Given the description of an element on the screen output the (x, y) to click on. 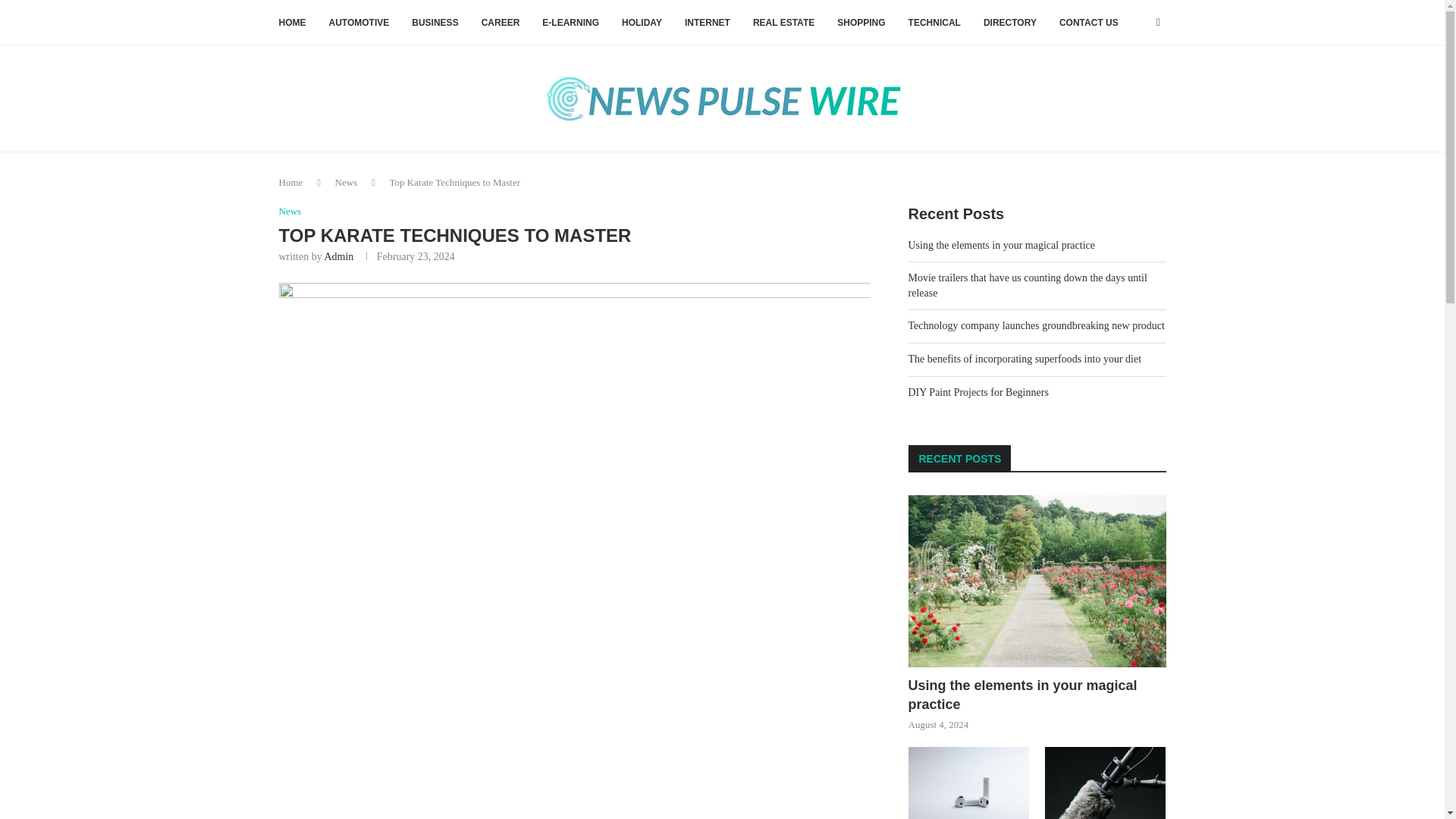
INTERNET (707, 22)
BUSINESS (435, 22)
TECHNICAL (934, 22)
SHOPPING (861, 22)
CONTACT US (1088, 22)
Home (290, 182)
HOLIDAY (641, 22)
E-LEARNING (569, 22)
News (290, 211)
Admin (338, 256)
REAL ESTATE (782, 22)
AUTOMOTIVE (359, 22)
News (346, 182)
DIRECTORY (1010, 22)
